Given the description of an element on the screen output the (x, y) to click on. 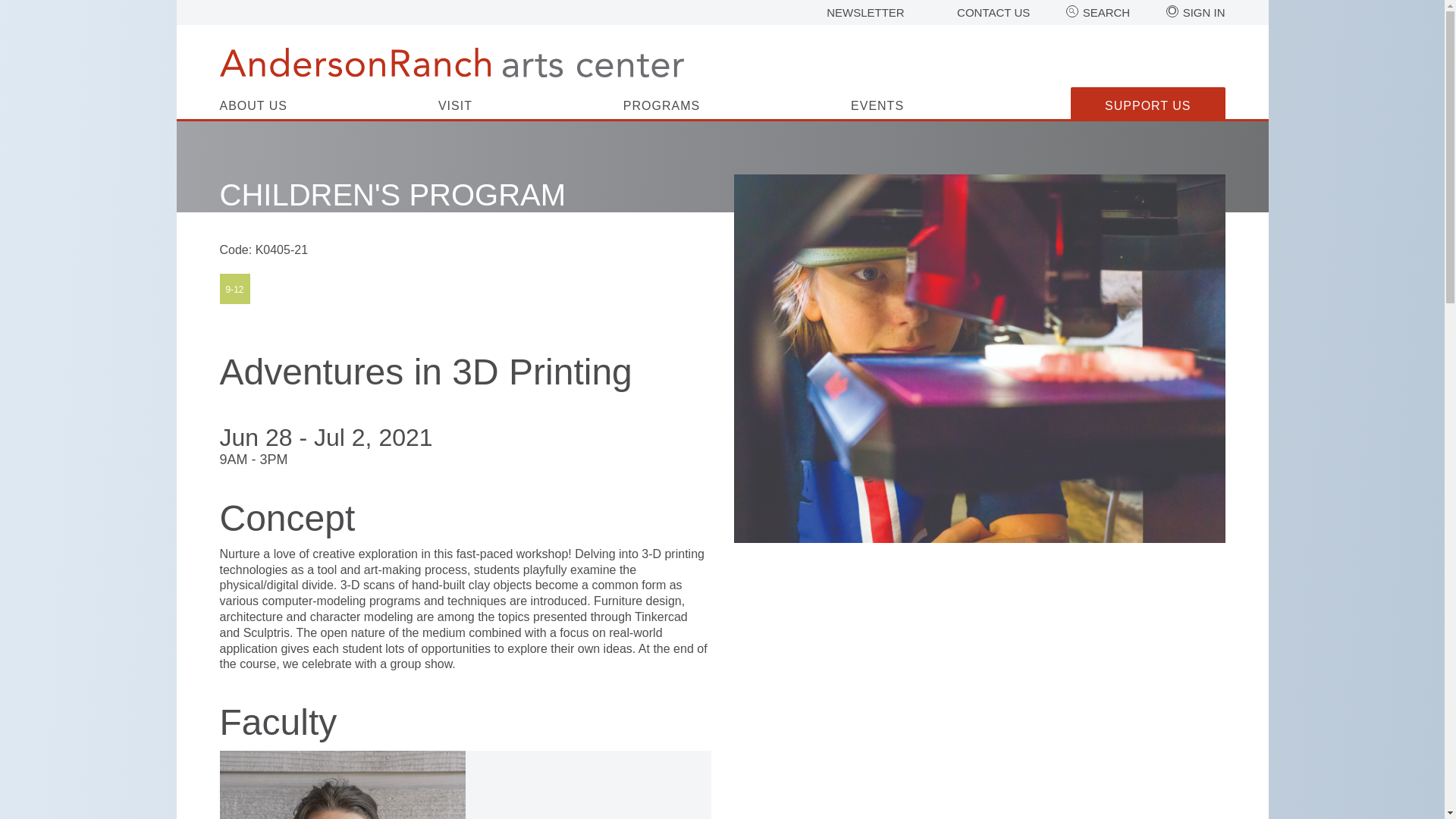
ABOUT US (253, 110)
CONTACT US (992, 12)
NEWSLETTER (865, 12)
EVENTS (877, 110)
Home (451, 61)
PROGRAMS (661, 110)
VISIT (454, 110)
